Given the description of an element on the screen output the (x, y) to click on. 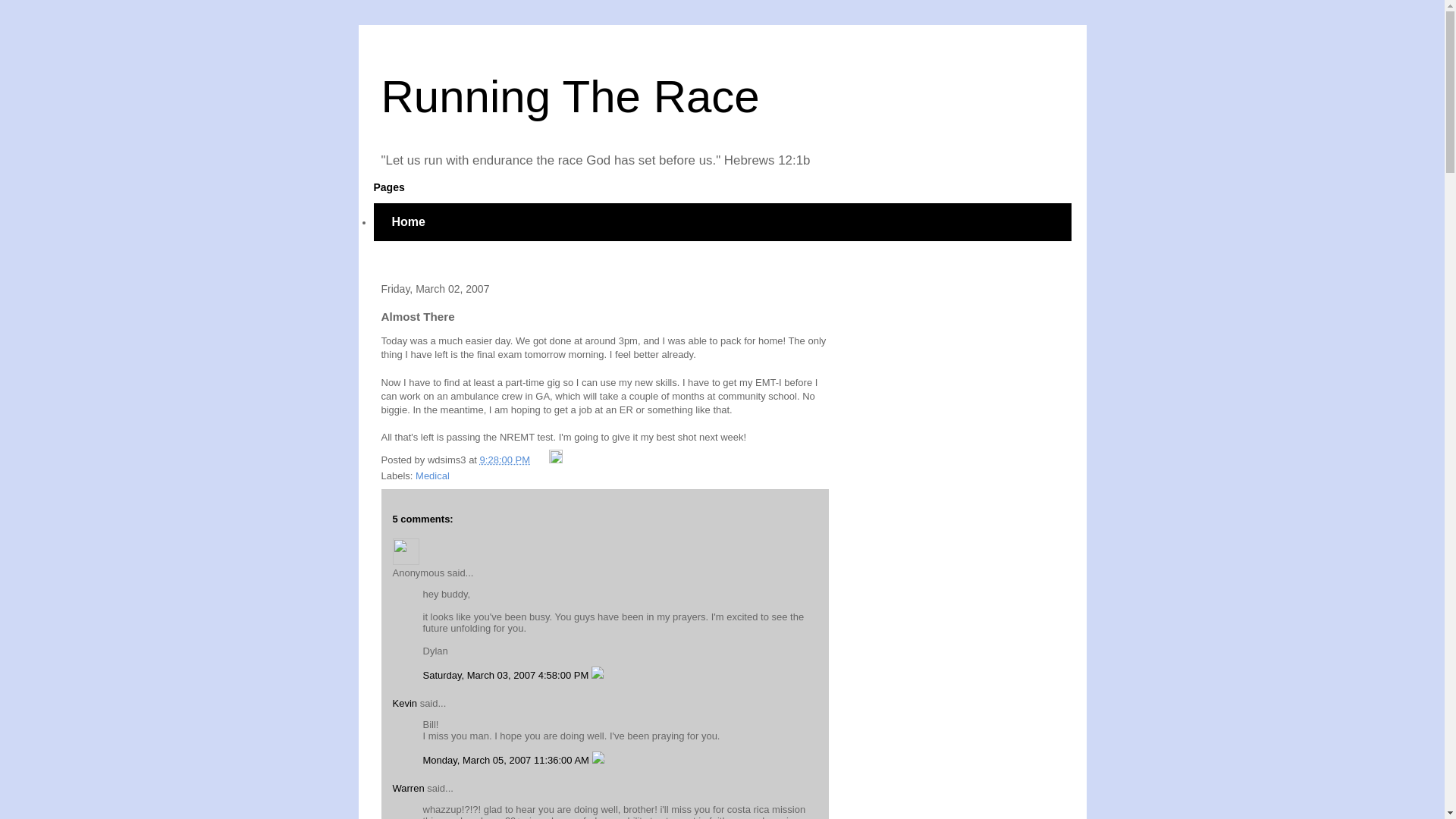
Anonymous (406, 551)
Edit Post (555, 460)
comment permalink (507, 759)
Email Post (541, 460)
Home (407, 221)
9:28:00 PM (505, 460)
Delete Comment (597, 674)
Warren (409, 787)
Monday, March 05, 2007 11:36:00 AM (507, 759)
Medical (431, 475)
comment permalink (507, 674)
Saturday, March 03, 2007 4:58:00 PM (507, 674)
Delete Comment (598, 759)
Running The Race (569, 96)
permanent link (505, 460)
